Given the description of an element on the screen output the (x, y) to click on. 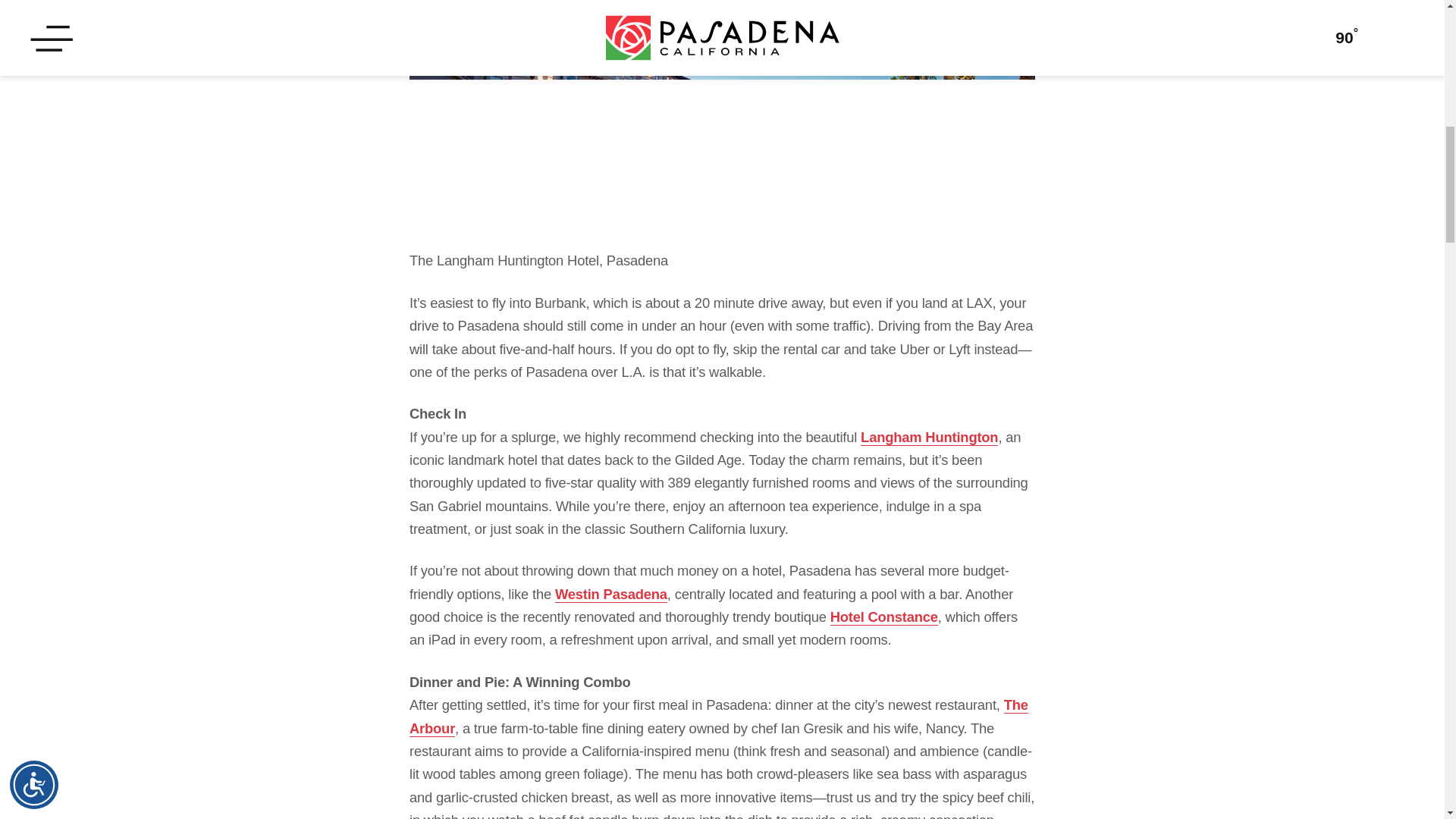
Westin Pasadena (610, 594)
The Arbour (718, 716)
Langham Huntington (928, 437)
Hotel Constance (883, 617)
